Given the description of an element on the screen output the (x, y) to click on. 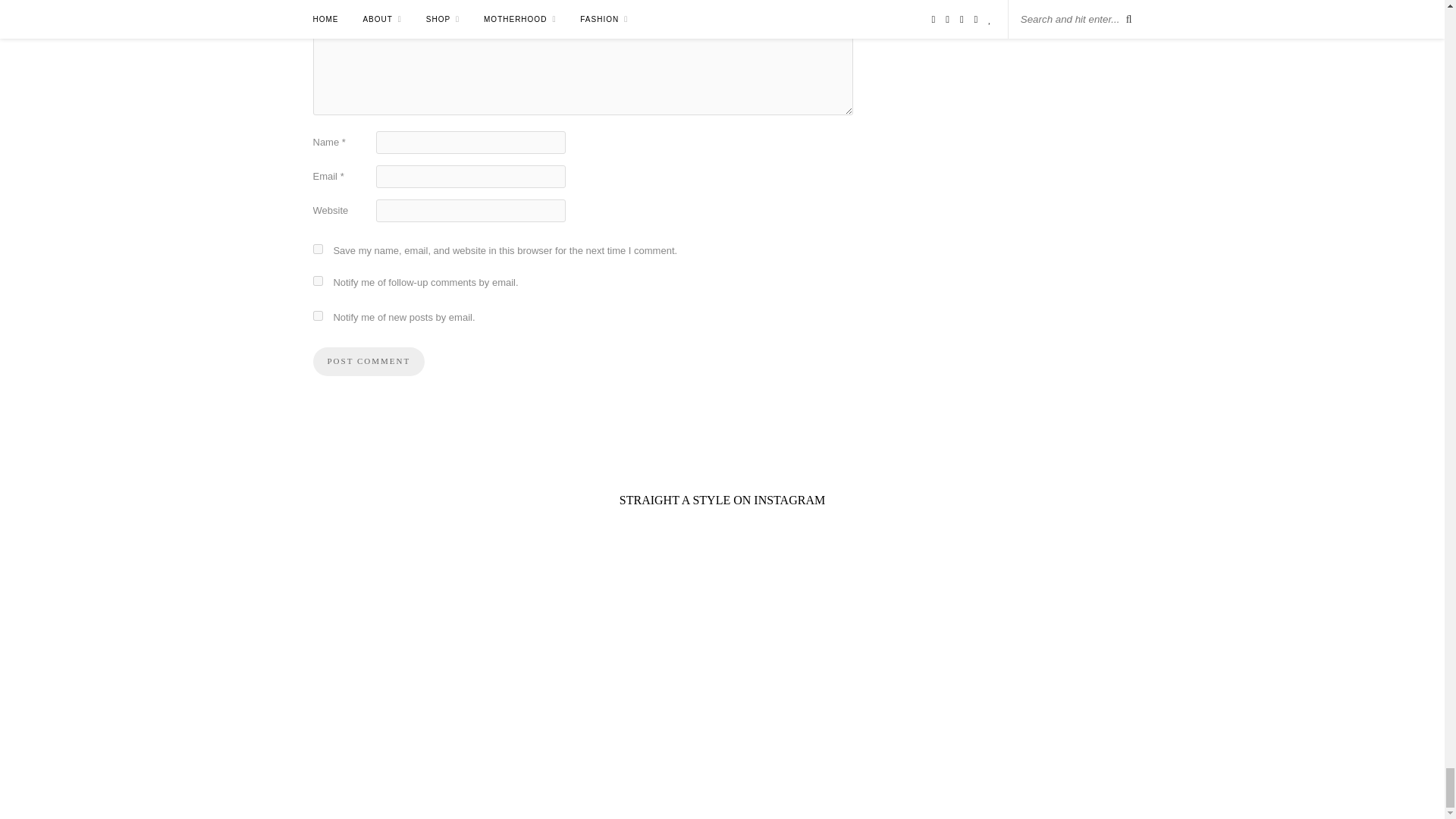
subscribe (317, 316)
subscribe (317, 280)
Post Comment (369, 361)
yes (317, 248)
